Given the description of an element on the screen output the (x, y) to click on. 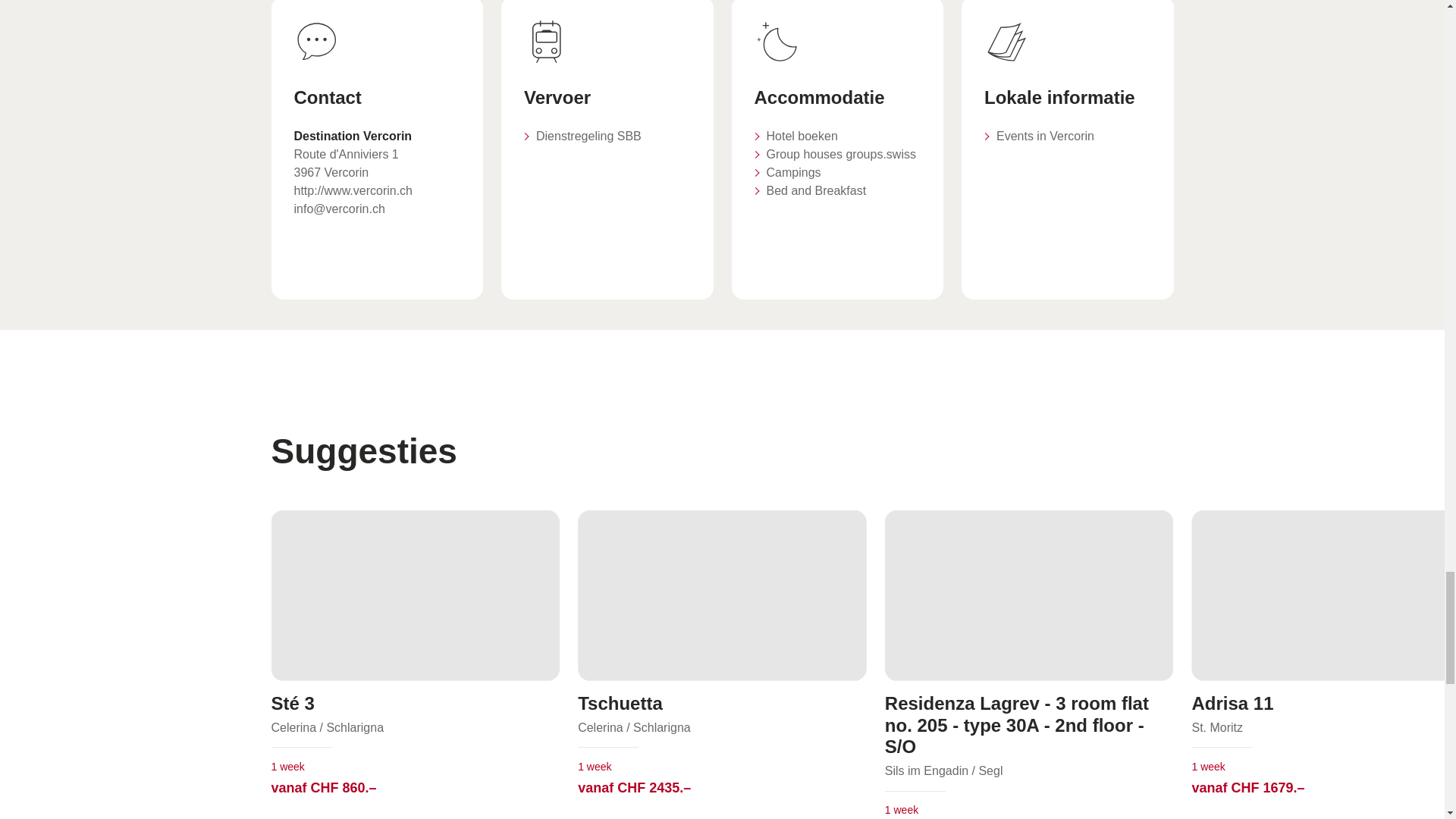
Meer info over: Tschuetta (722, 664)
